Given the description of an element on the screen output the (x, y) to click on. 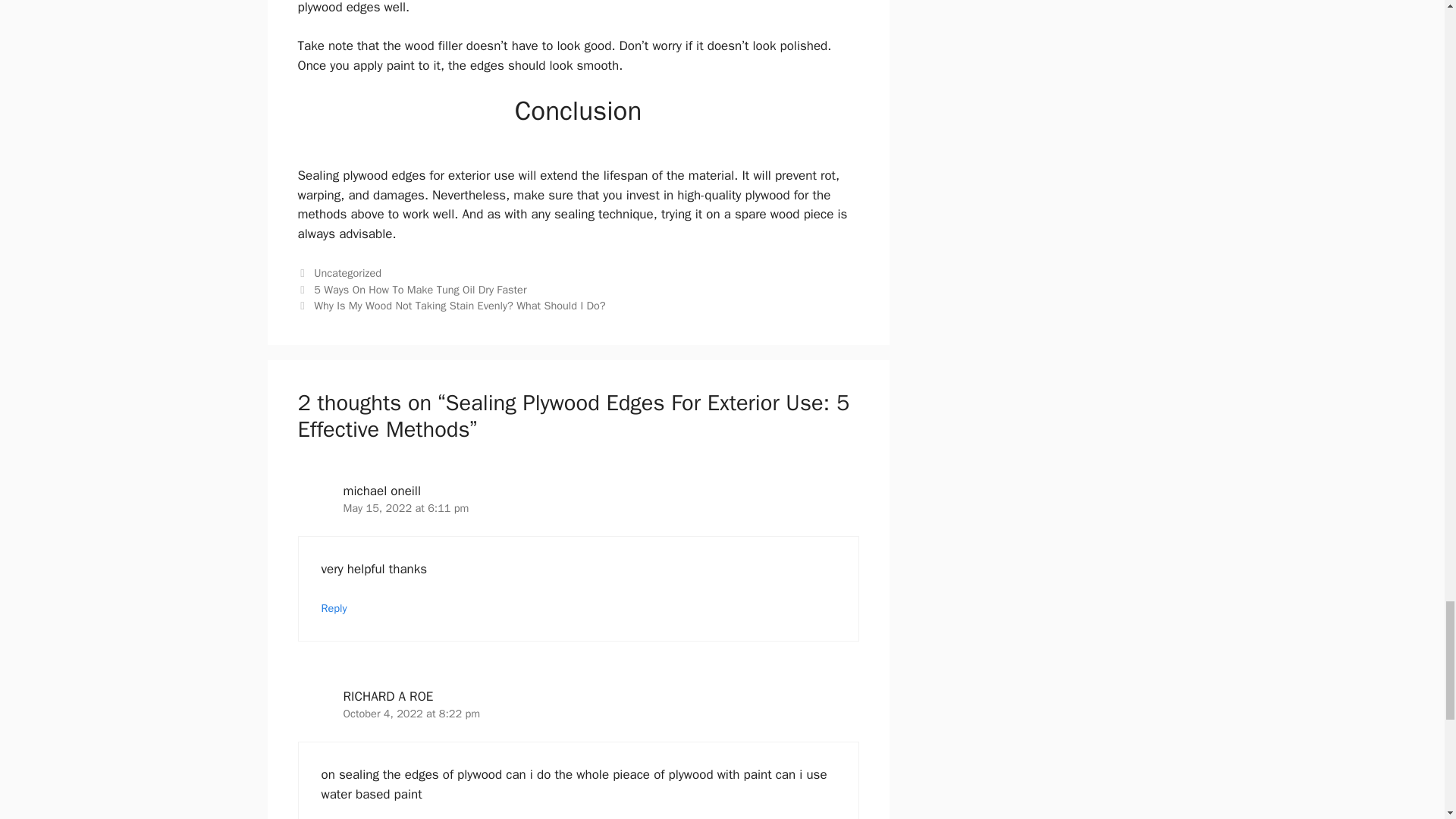
Reply (334, 608)
October 4, 2022 at 8:22 pm (411, 713)
Uncategorized (347, 273)
5 Ways On How To Make Tung Oil Dry Faster (419, 289)
Why Is My Wood Not Taking Stain Evenly? What Should I Do? (459, 305)
May 15, 2022 at 6:11 pm (405, 508)
